Given the description of an element on the screen output the (x, y) to click on. 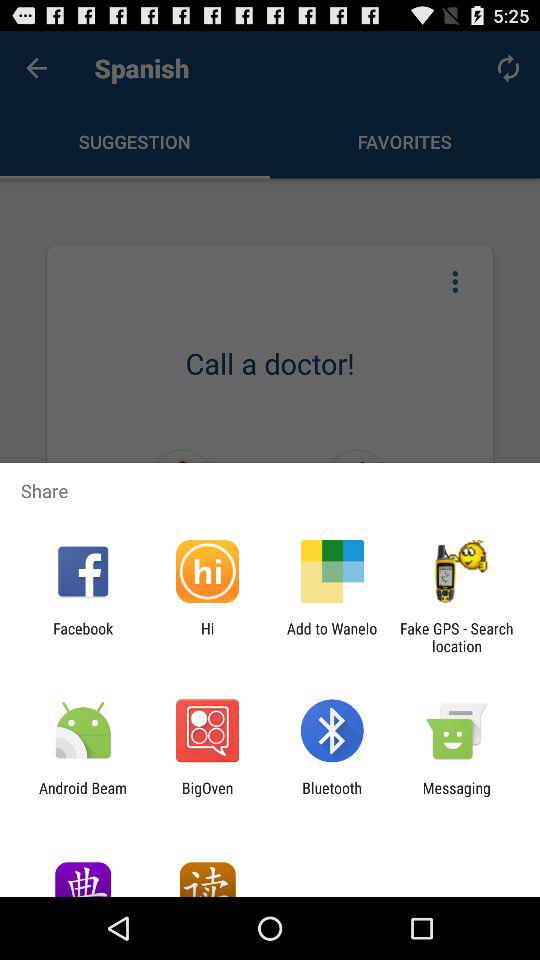
tap the icon next to bigoven (83, 796)
